Given the description of an element on the screen output the (x, y) to click on. 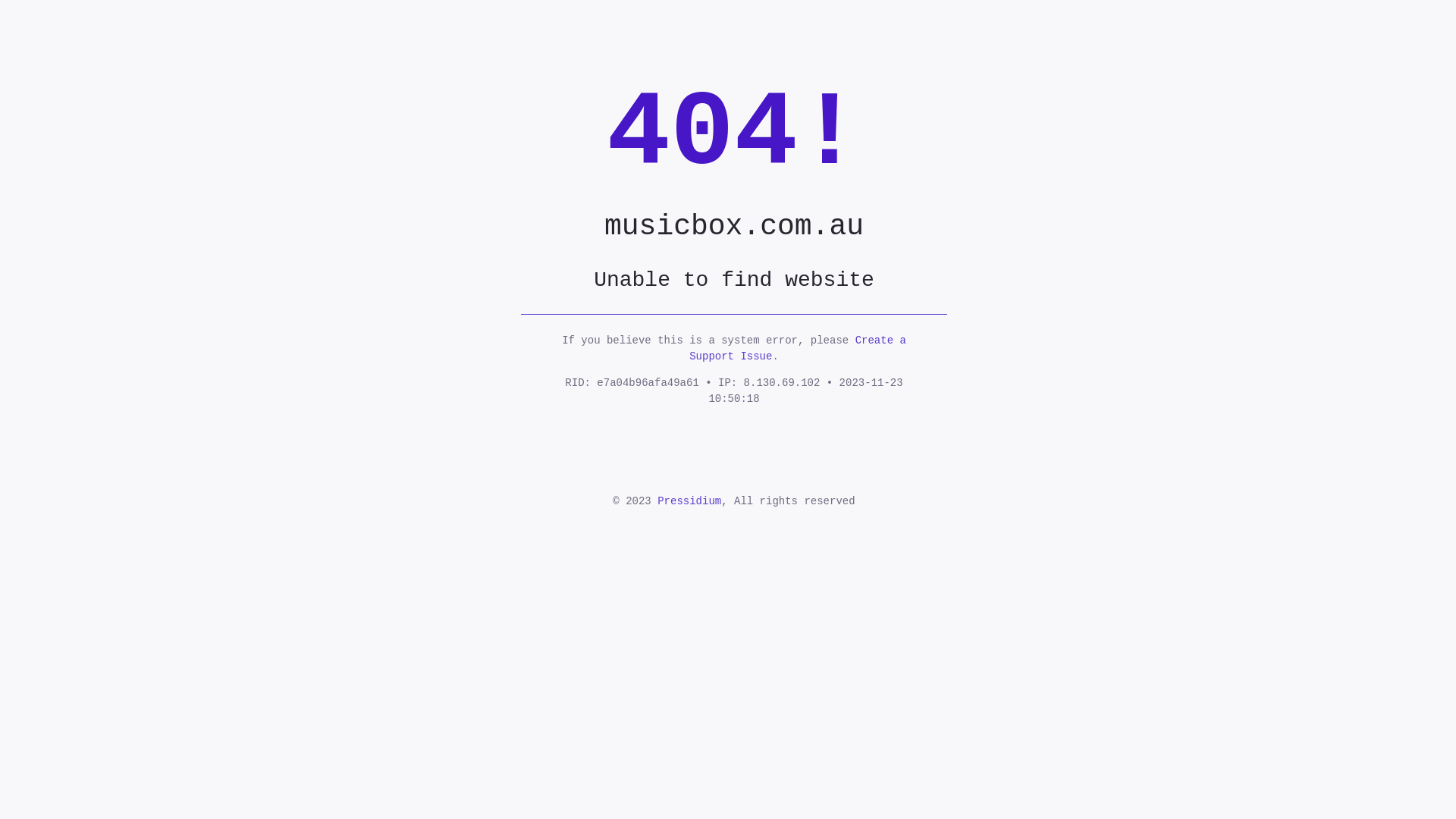
Pressidium Element type: text (689, 501)
Create a Support Issue Element type: text (797, 348)
